Given the description of an element on the screen output the (x, y) to click on. 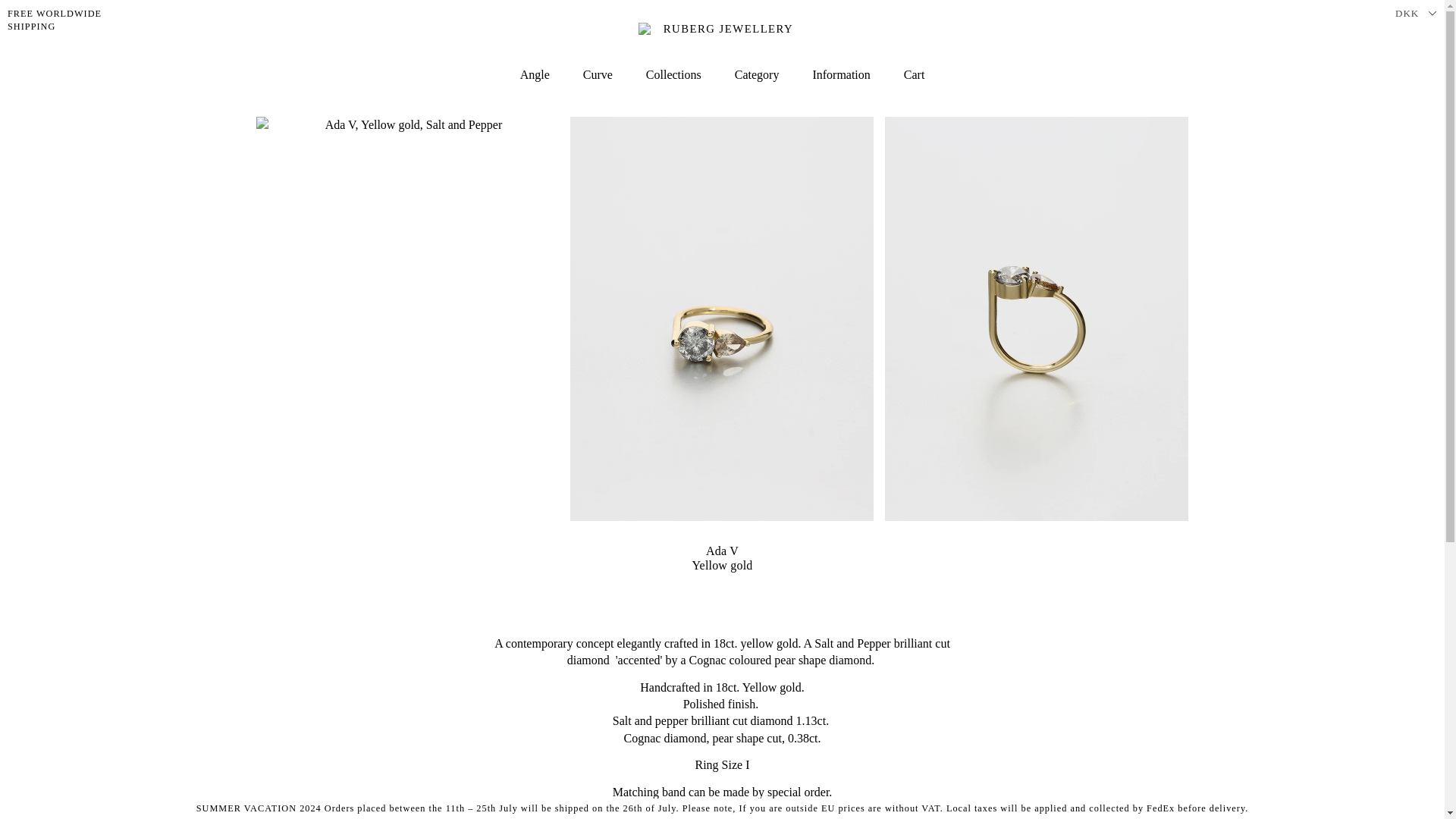
Angle (673, 75)
Curve (534, 75)
FREE WORLDWIDE SHIPPING (597, 75)
